Given the description of an element on the screen output the (x, y) to click on. 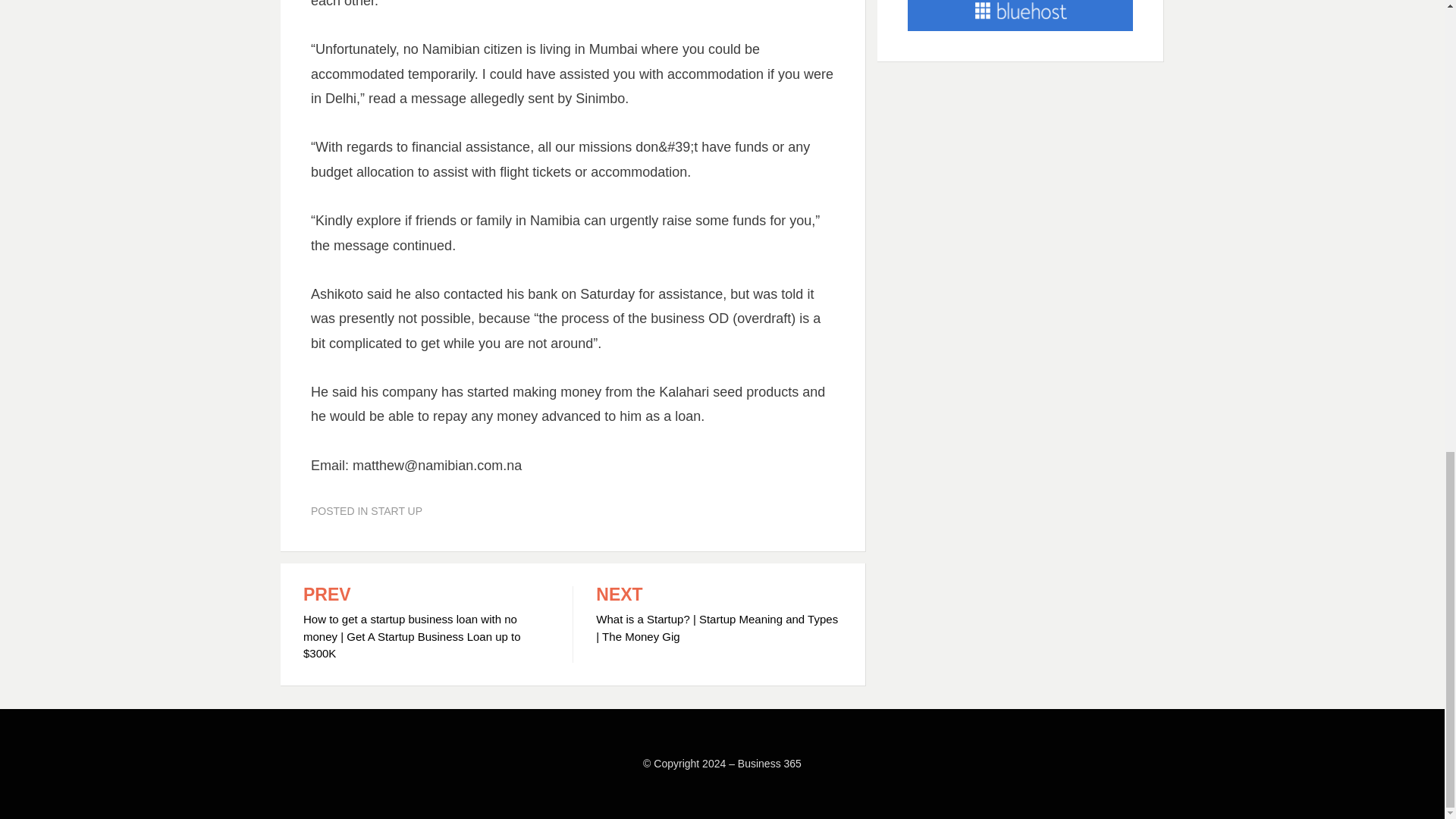
Business 365 (770, 763)
WordPress (508, 784)
START UP (396, 510)
SimpleFreeThemes (388, 784)
SimpleFreeThemes (388, 784)
WordPress (508, 784)
